Given the description of an element on the screen output the (x, y) to click on. 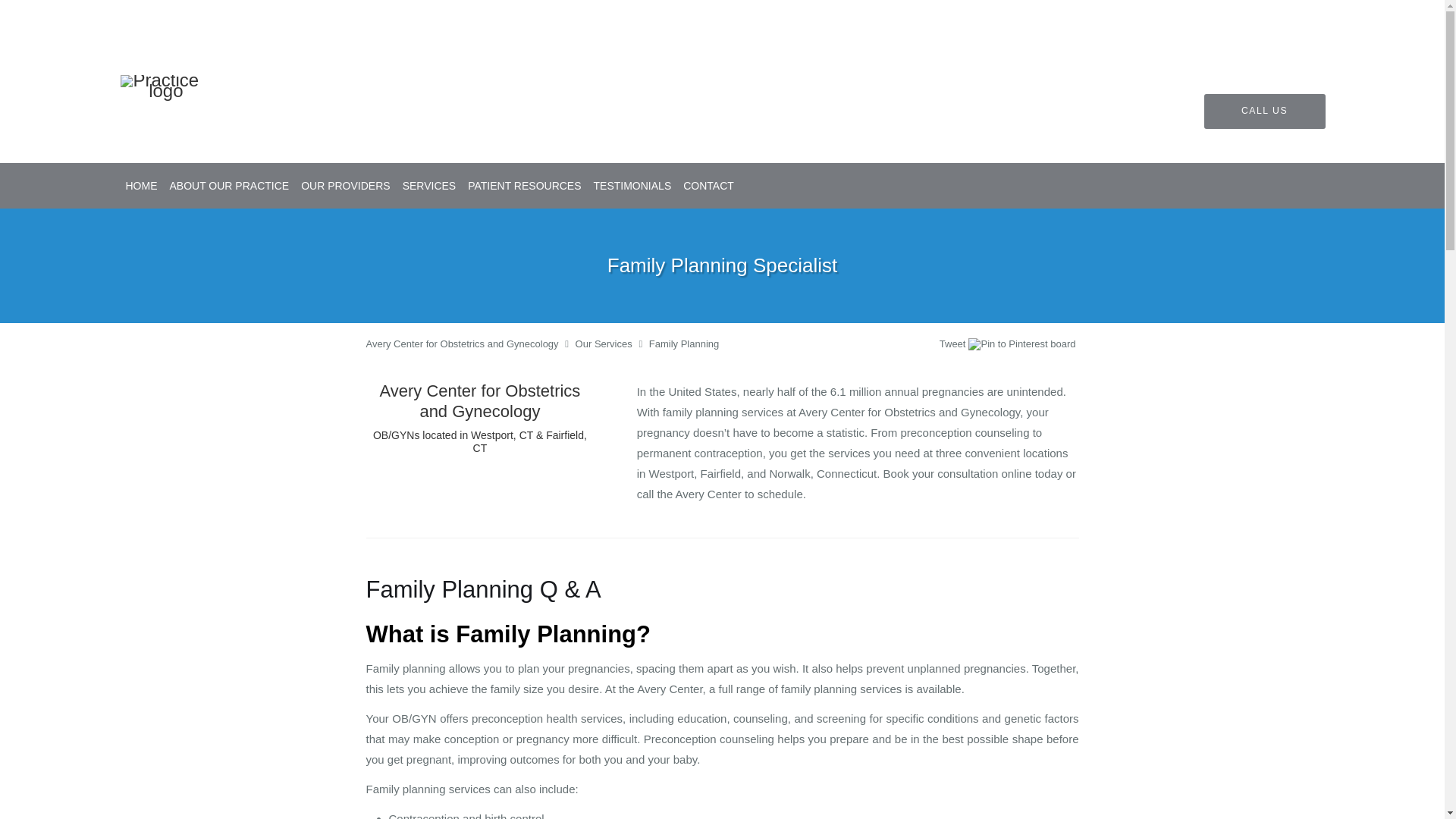
SERVICES (429, 185)
PATIENT RESOURCES (523, 185)
CONTACT (708, 185)
Family Planning (684, 343)
ABOUT OUR PRACTICE (229, 185)
CALL US (1264, 111)
Avery Center for Obstetrics and Gynecology (461, 343)
OUR PROVIDERS (345, 185)
HOME (141, 185)
TESTIMONIALS (633, 185)
